Given the description of an element on the screen output the (x, y) to click on. 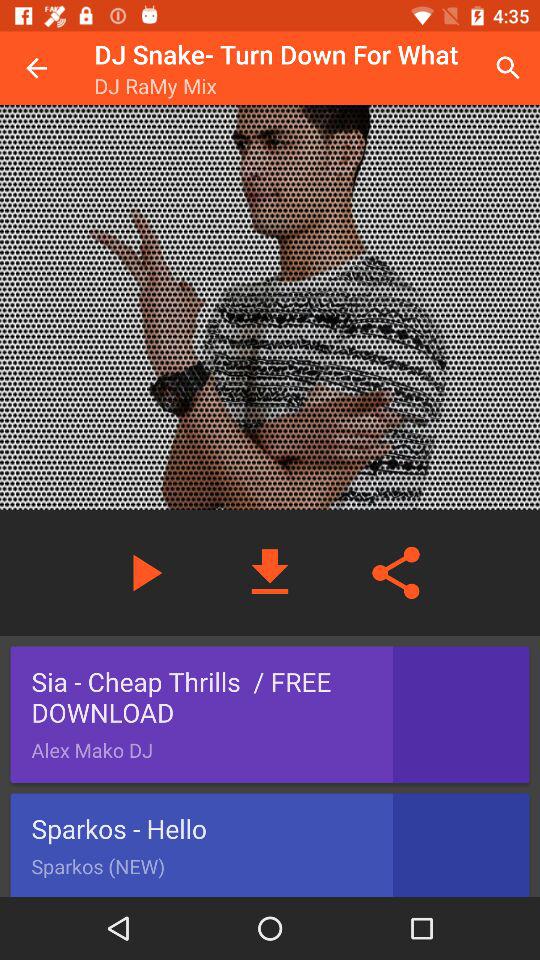
launch item to the right of the dj snake turn icon (508, 67)
